Given the description of an element on the screen output the (x, y) to click on. 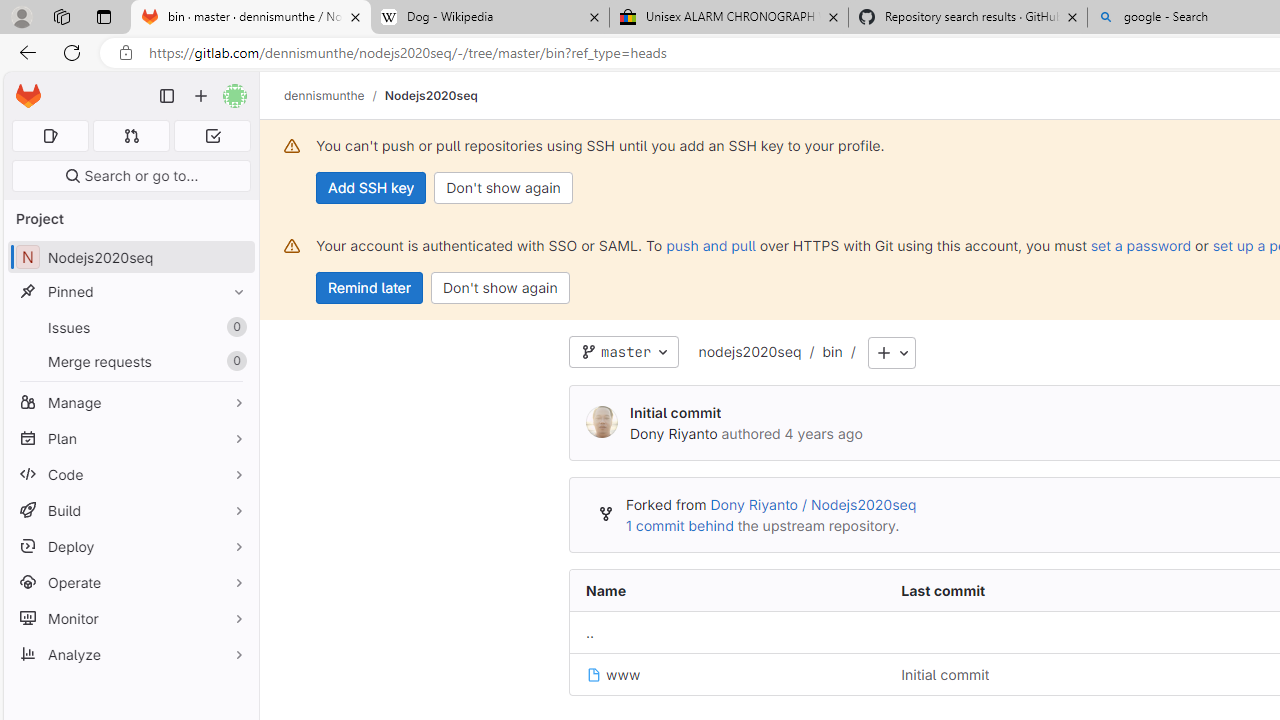
Deploy (130, 546)
Build (130, 510)
dennismunthe (324, 95)
Primary navigation sidebar (167, 96)
Build (130, 510)
push and pull (710, 245)
Monitor (130, 618)
Assigned issues 0 (50, 136)
Issues0 (130, 327)
Don't show again (500, 287)
To-Do list 0 (212, 136)
Initial commit (945, 674)
